Given the description of an element on the screen output the (x, y) to click on. 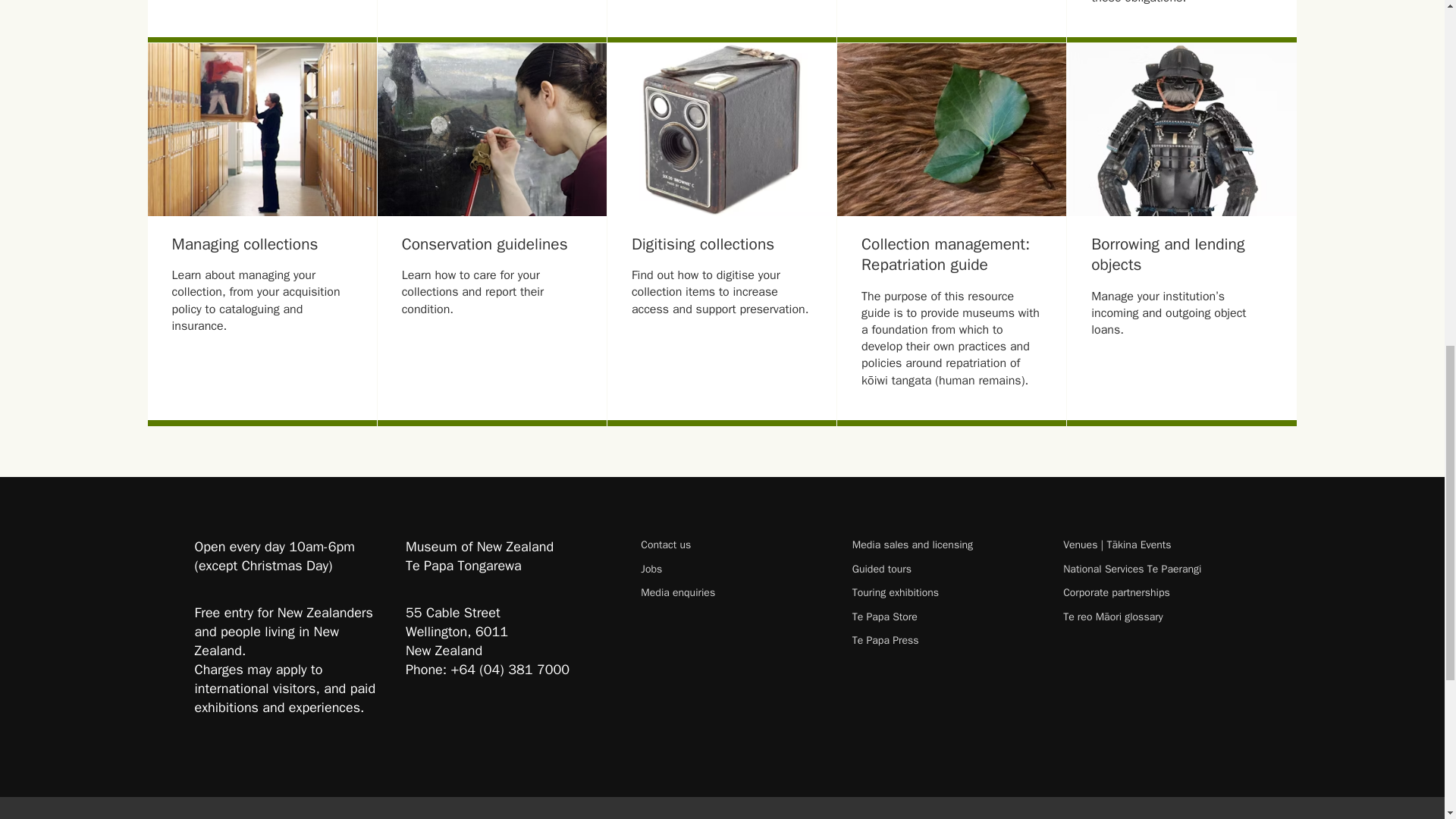
Touring exhibitions (945, 592)
Art Storeroom. Photograph by Michael Hall. Te Papa (262, 129)
Guided tours (945, 568)
Media sales and licensing (945, 544)
Corporate partnerships (1155, 592)
